Given the description of an element on the screen output the (x, y) to click on. 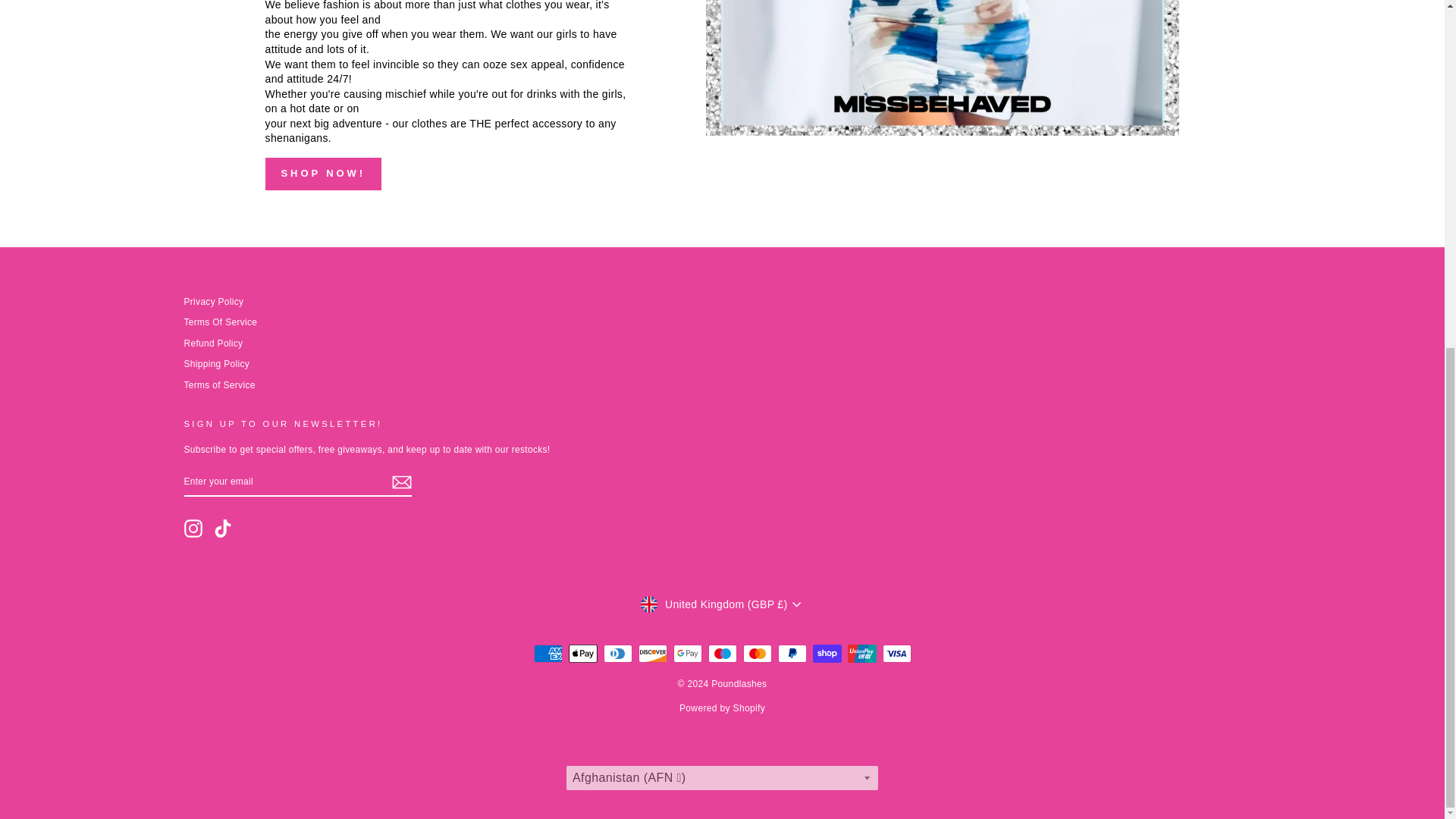
icon-email (400, 482)
Poundlashes on TikTok (222, 528)
Google Pay (686, 653)
Apple Pay (582, 653)
American Express (548, 653)
Discover (652, 653)
instagram (192, 528)
Maestro (721, 653)
Diners Club (617, 653)
Poundlashes on Instagram (192, 528)
Mastercard (756, 653)
